Given the description of an element on the screen output the (x, y) to click on. 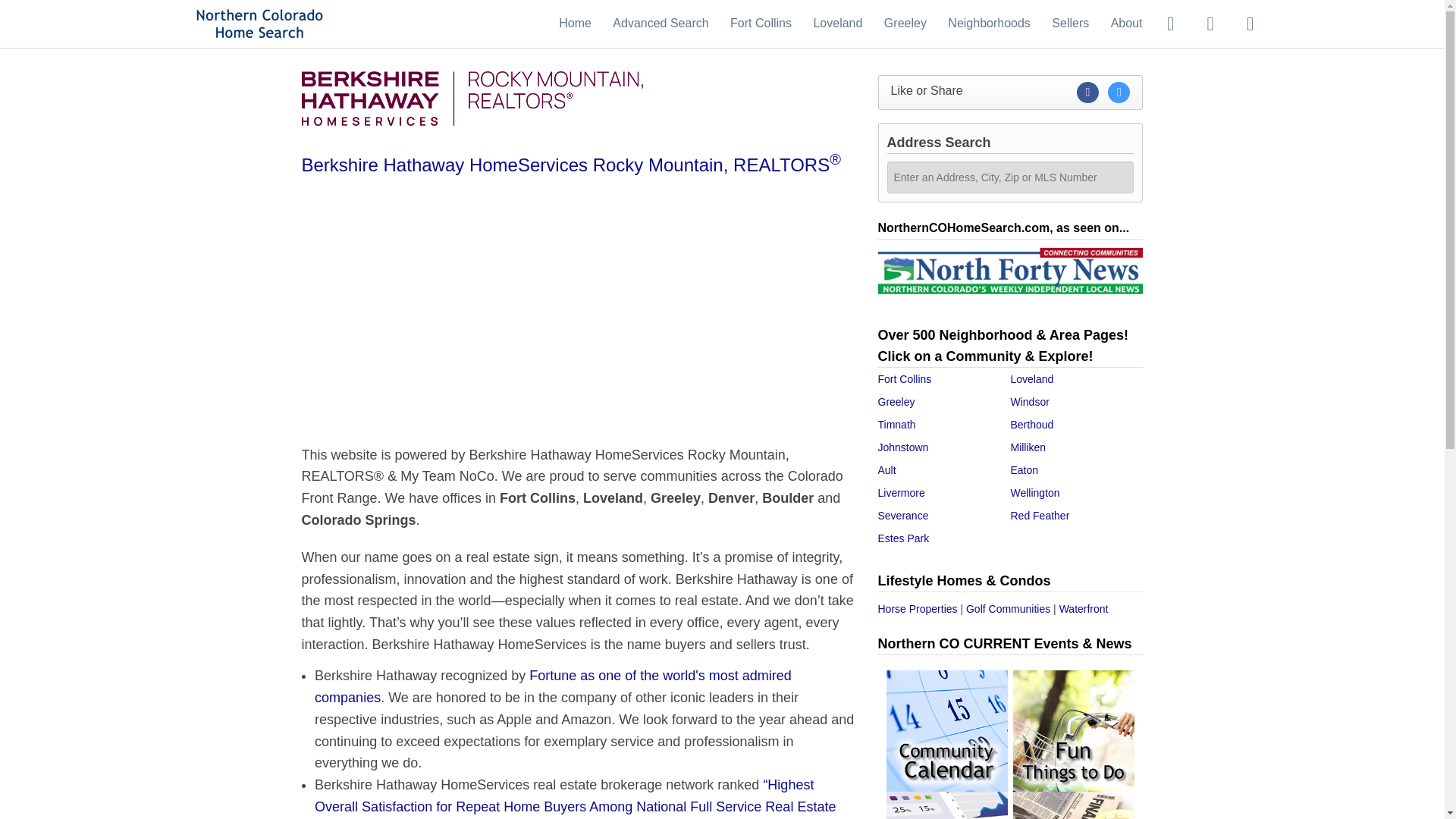
Greeley (896, 401)
Berthoud (1031, 424)
Wellington (1034, 492)
Loveland (836, 22)
Johnstown (902, 447)
Like or Share (1009, 92)
Horse Properties (917, 608)
Windsor (1029, 401)
Fortune as one of the world's most admired companies (553, 686)
Advanced Search (659, 22)
